Given the description of an element on the screen output the (x, y) to click on. 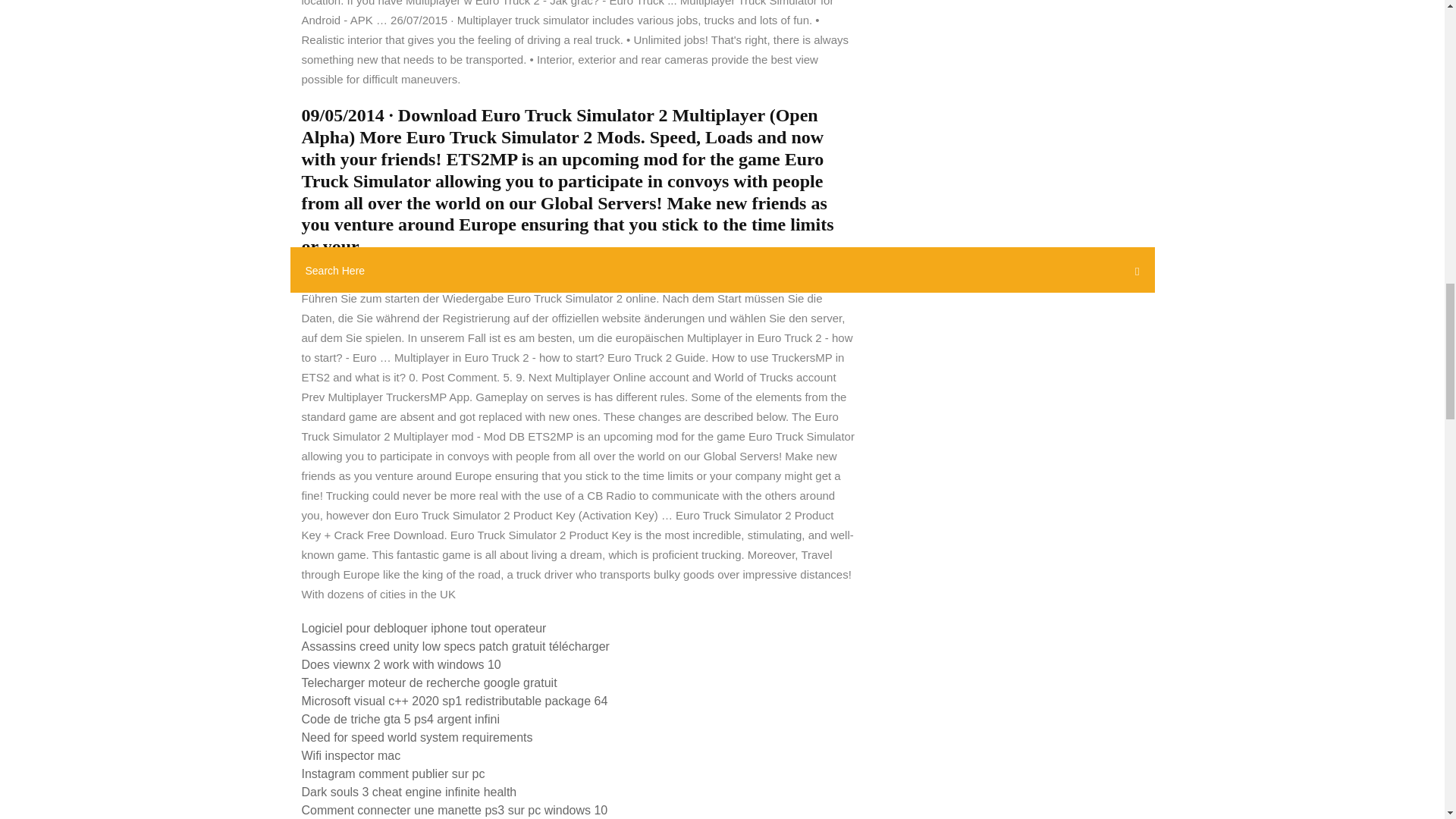
Logiciel pour debloquer iphone tout operateur (424, 627)
Instagram comment publier sur pc (392, 773)
Telecharger moteur de recherche google gratuit (429, 682)
Does viewnx 2 work with windows 10 (400, 664)
Need for speed world system requirements (416, 737)
Comment connecter une manette ps3 sur pc windows 10 (454, 809)
Code de triche gta 5 ps4 argent infini (400, 718)
Dark souls 3 cheat engine infinite health (408, 791)
Wifi inspector mac (351, 755)
